Given the description of an element on the screen output the (x, y) to click on. 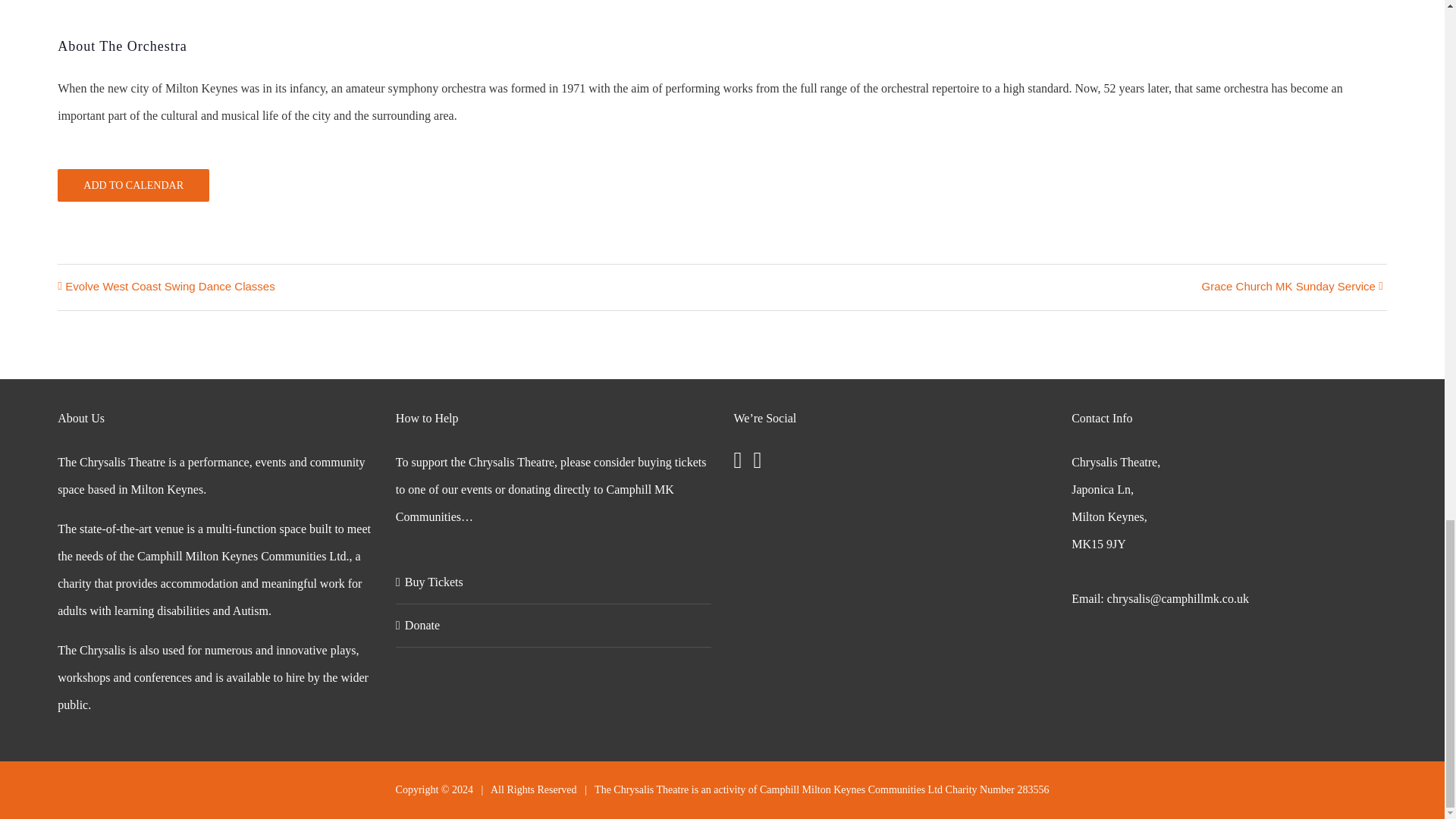
Donate (553, 625)
ADD TO CALENDAR (132, 185)
Buy Tickets (553, 582)
Grace Church MK Sunday Service (1284, 287)
Evolve West Coast Swing Dance Classes (174, 287)
